Given the description of an element on the screen output the (x, y) to click on. 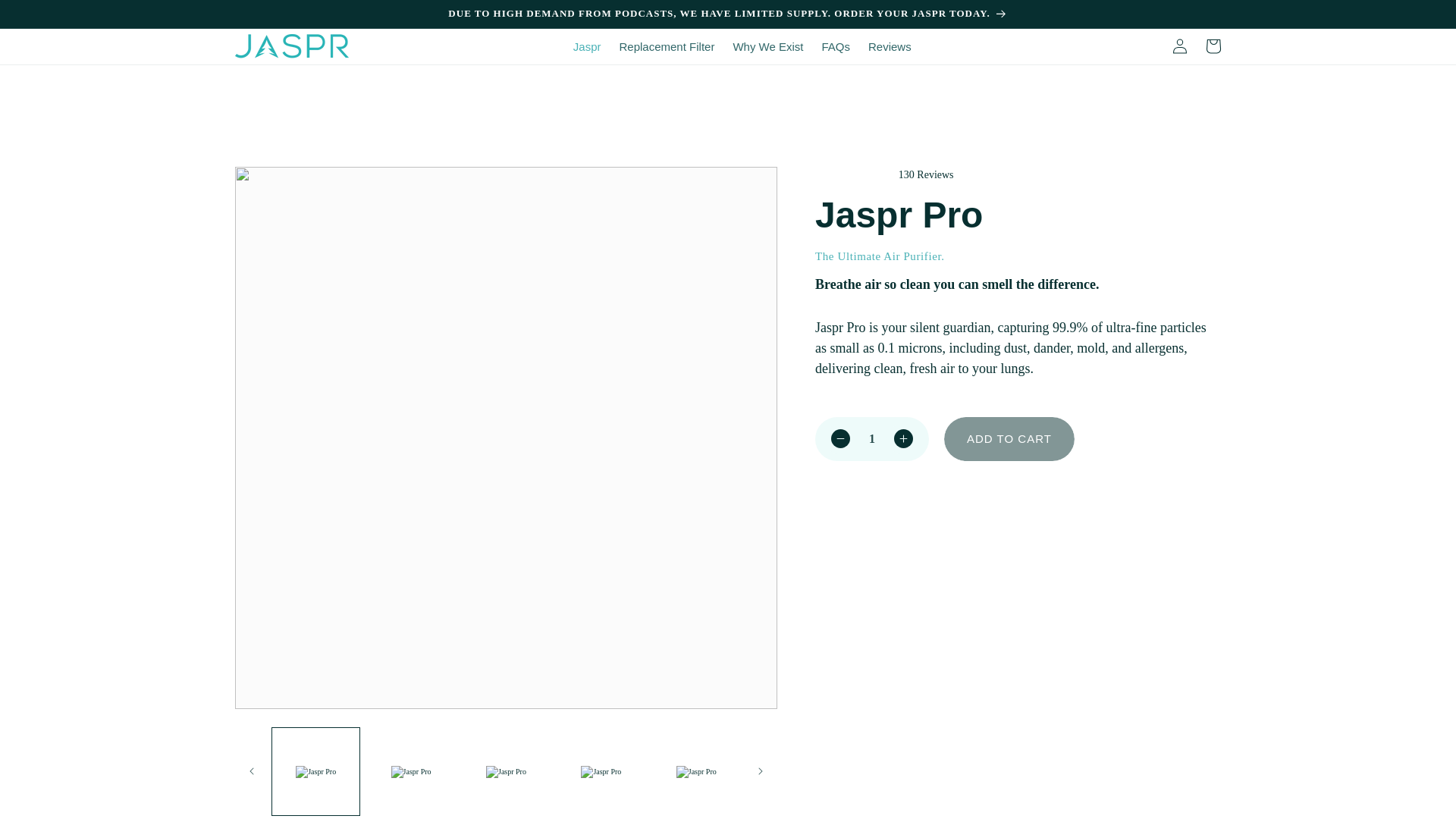
FAQs (835, 46)
Skip to product information (279, 182)
1 (871, 439)
Skip to content (45, 16)
Jaspr (587, 46)
Why We Exist (767, 46)
Reviews (889, 46)
Log in (1179, 46)
Replacement Filter (666, 46)
Decrease quantity for Jaspr Pro (840, 439)
Cart (1213, 46)
